Given the description of an element on the screen output the (x, y) to click on. 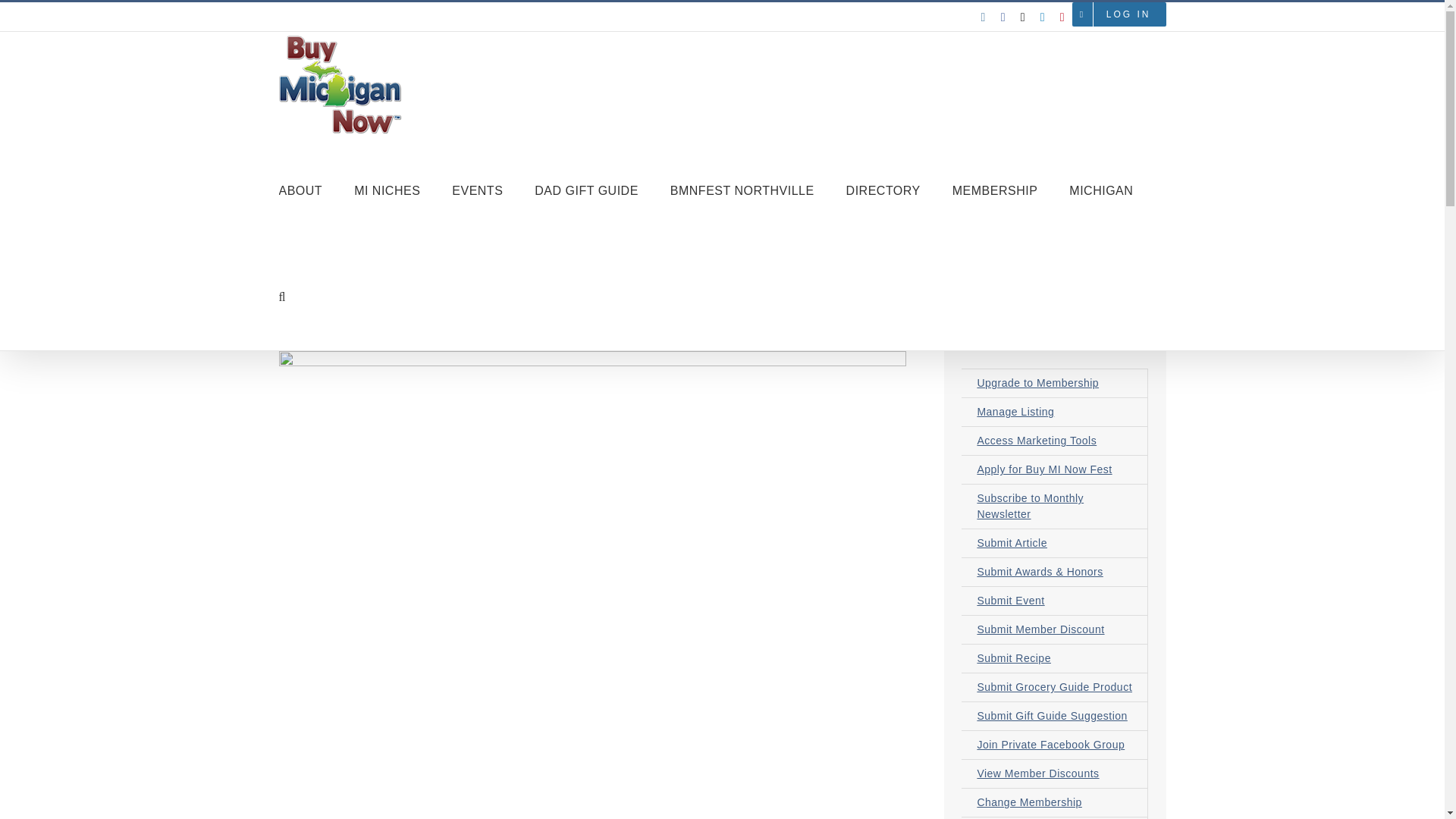
BMNFEST NORTHVILLE (741, 191)
DAD GIFT GUIDE (586, 191)
LOG IN (1128, 14)
